Given the description of an element on the screen output the (x, y) to click on. 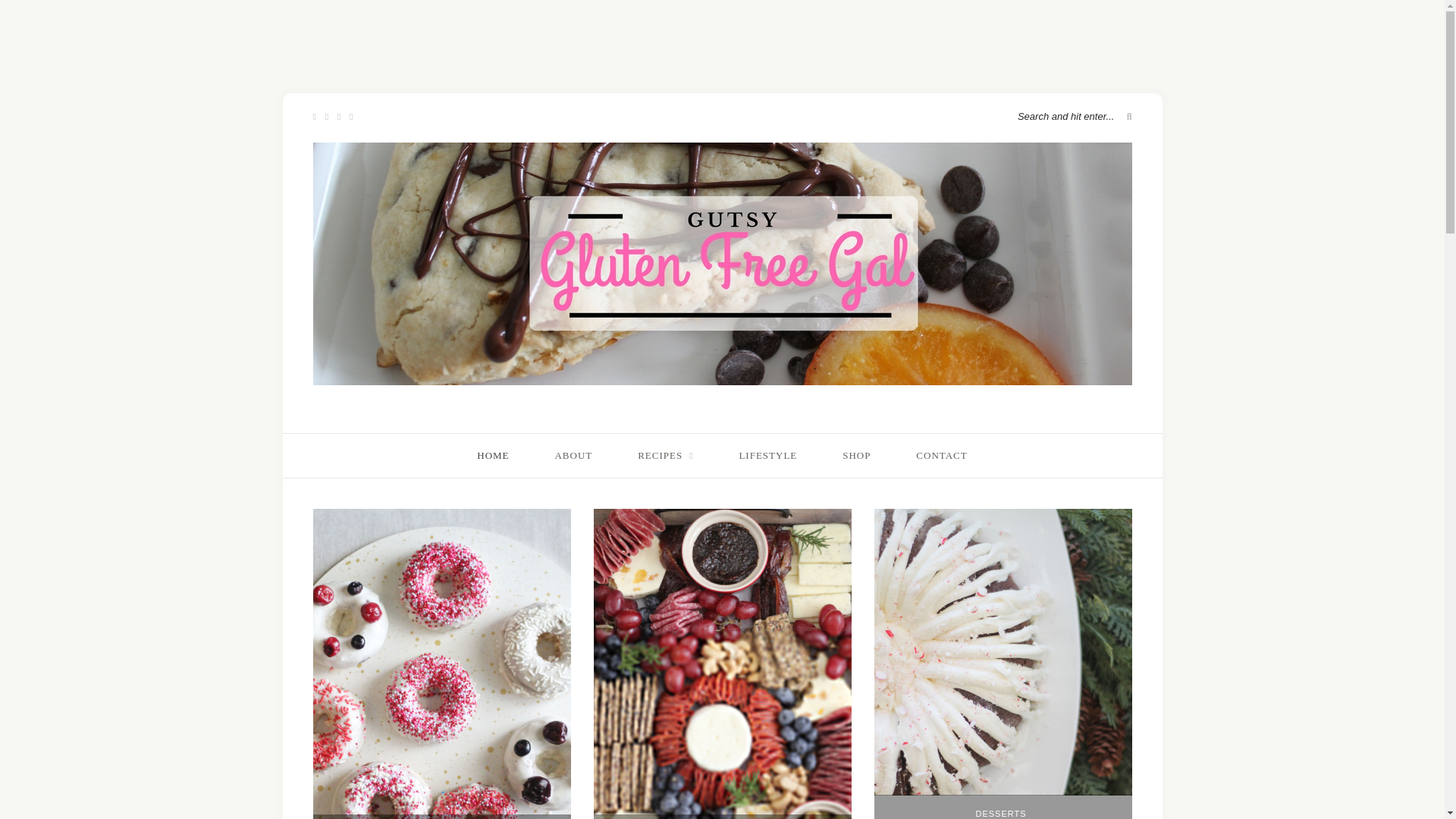
RECIPES (665, 455)
LIFESTYLE (767, 455)
Advertisement (721, 33)
CONTACT (940, 455)
